Given the description of an element on the screen output the (x, y) to click on. 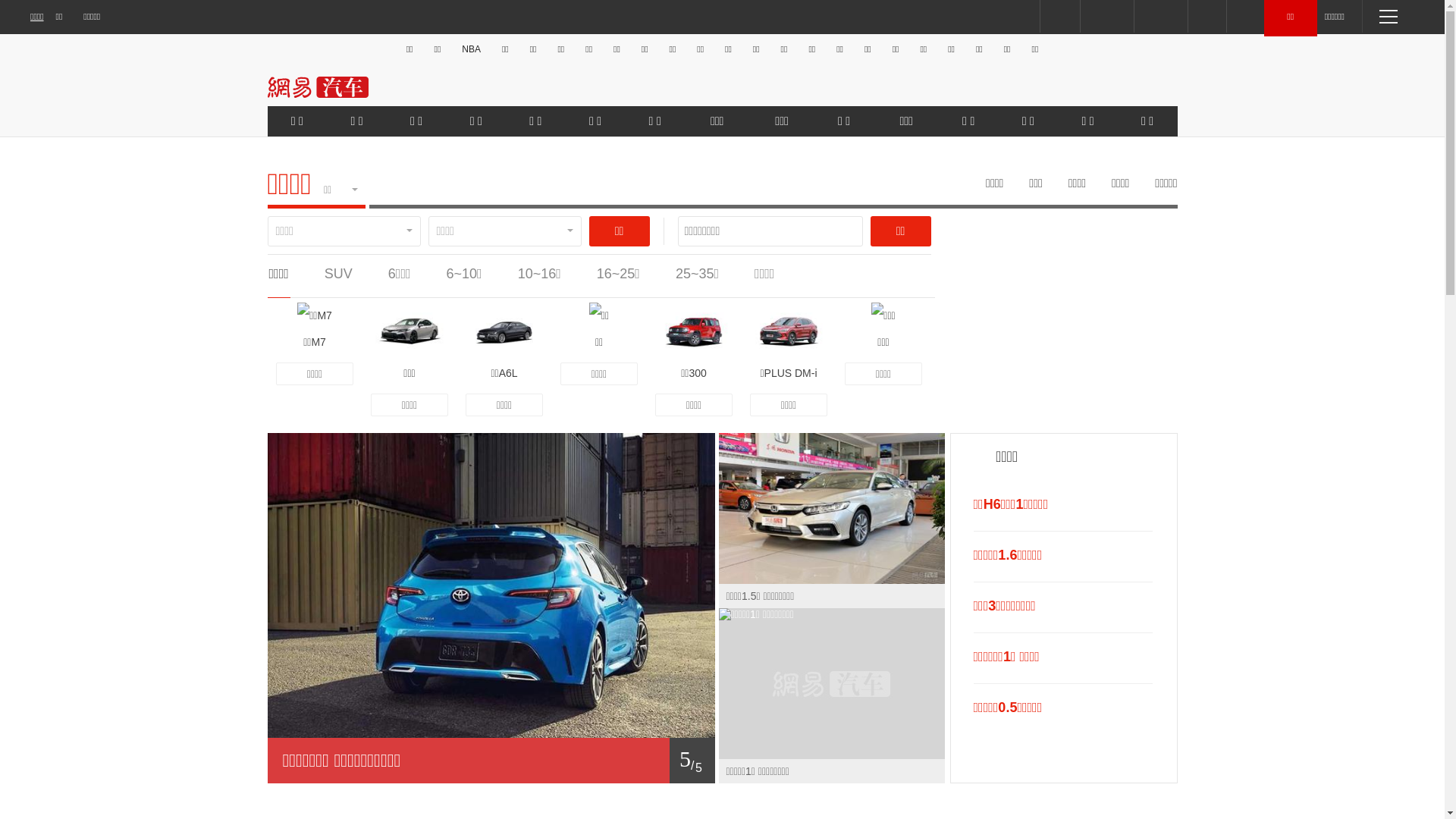
1/ 5 Element type: text (490, 760)
NBA Element type: text (471, 48)
SUV Element type: text (338, 273)
